Given the description of an element on the screen output the (x, y) to click on. 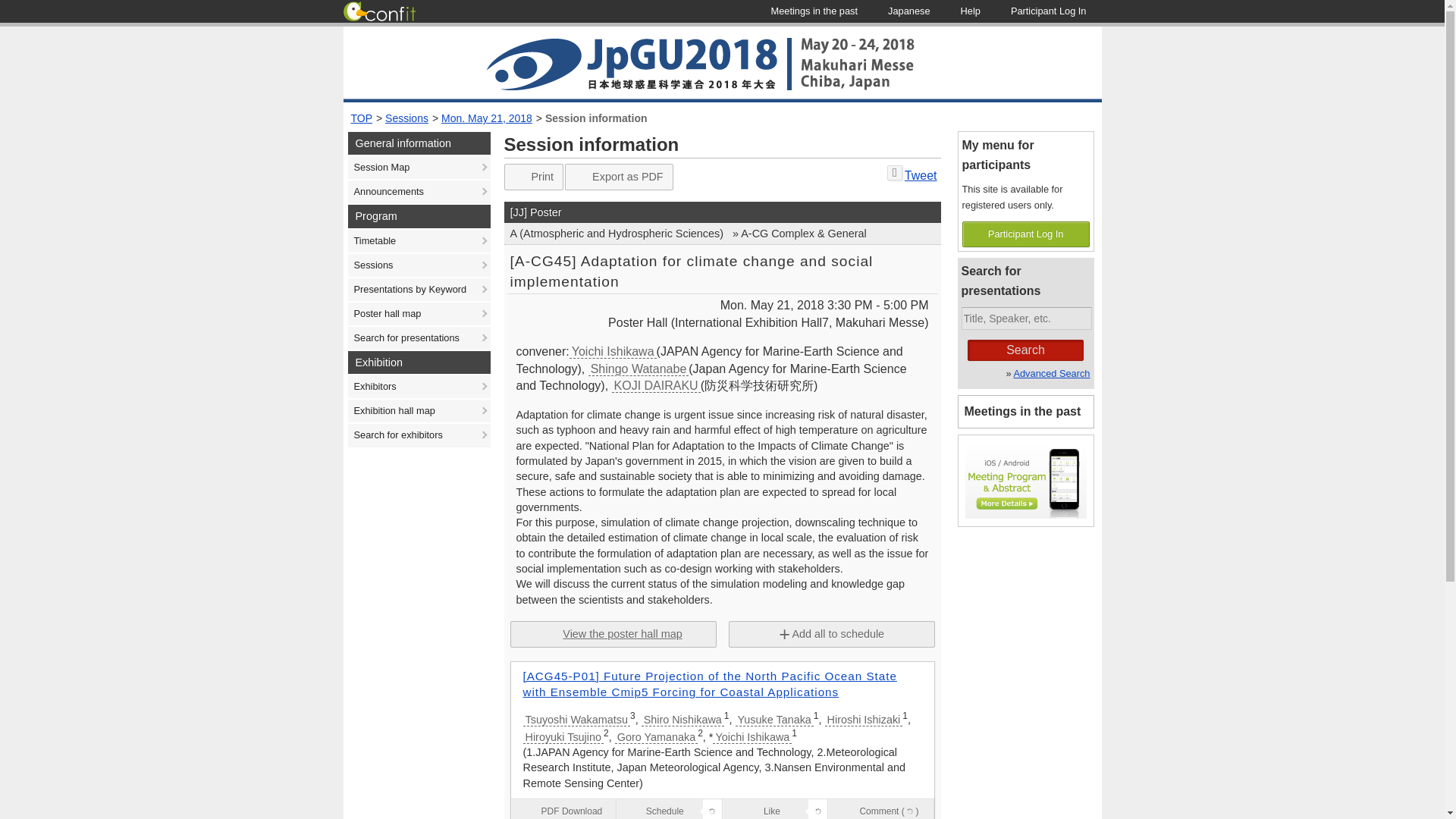
International (721, 211)
Shiro Nishikawa (682, 719)
Add to or remove from my schedule (668, 809)
Search for exhibitors (418, 435)
Participant Log In (1048, 11)
Hiroyuki Tsujino (563, 736)
TOP (361, 118)
Exhibitors (418, 386)
Session Map (418, 167)
Search for presentations (418, 337)
Meetings in the past (814, 11)
Tweet (920, 174)
Place (768, 323)
Export as PDF (618, 176)
Sessions (406, 118)
